Given the description of an element on the screen output the (x, y) to click on. 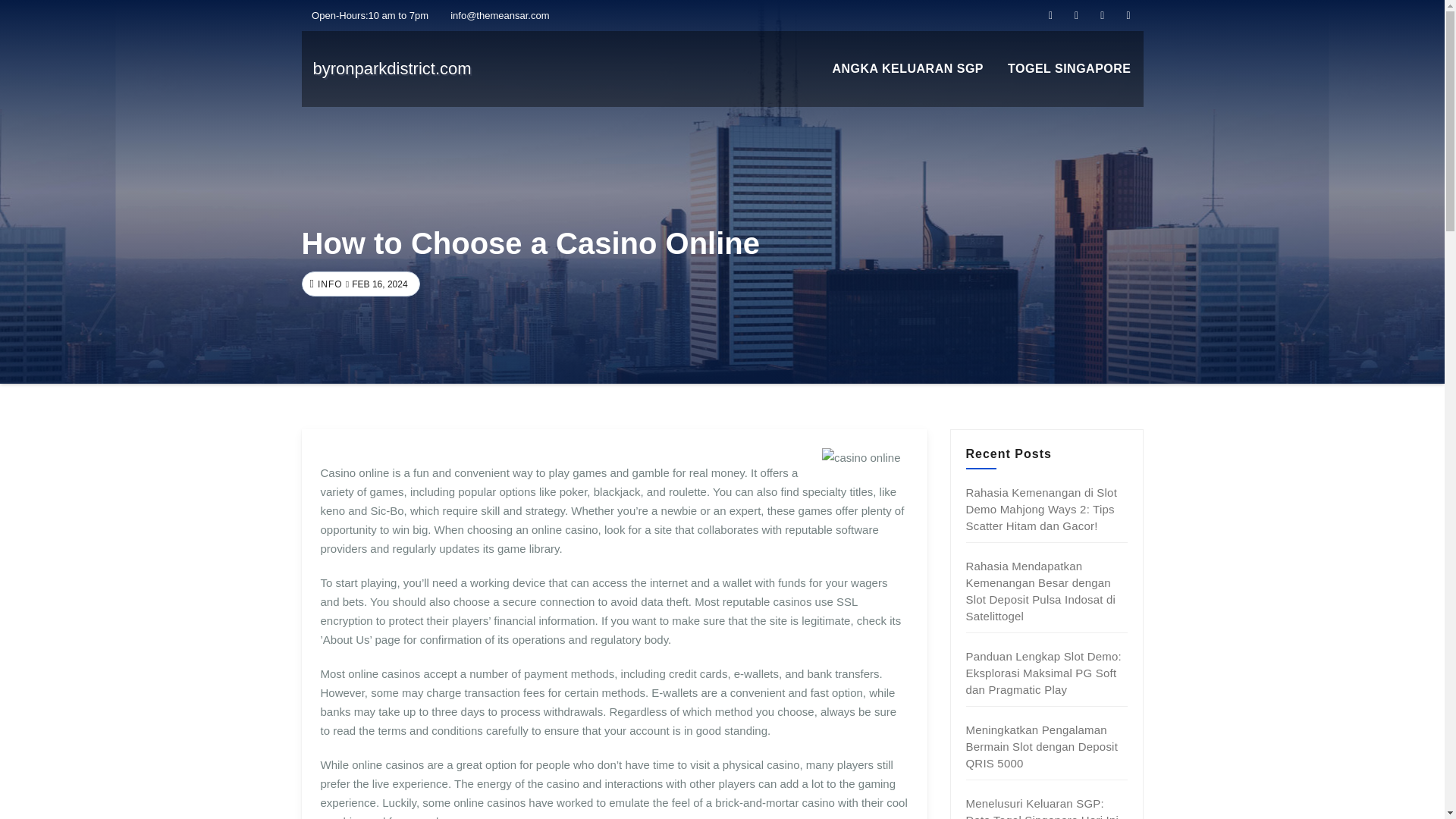
Togel Singapore (1068, 69)
ANGKA KELUARAN SGP (907, 69)
INFO (328, 284)
byronparkdistrict.com (391, 68)
angka keluaran sgp (907, 69)
Open-Hours:10 am to 7pm (365, 15)
